Given the description of an element on the screen output the (x, y) to click on. 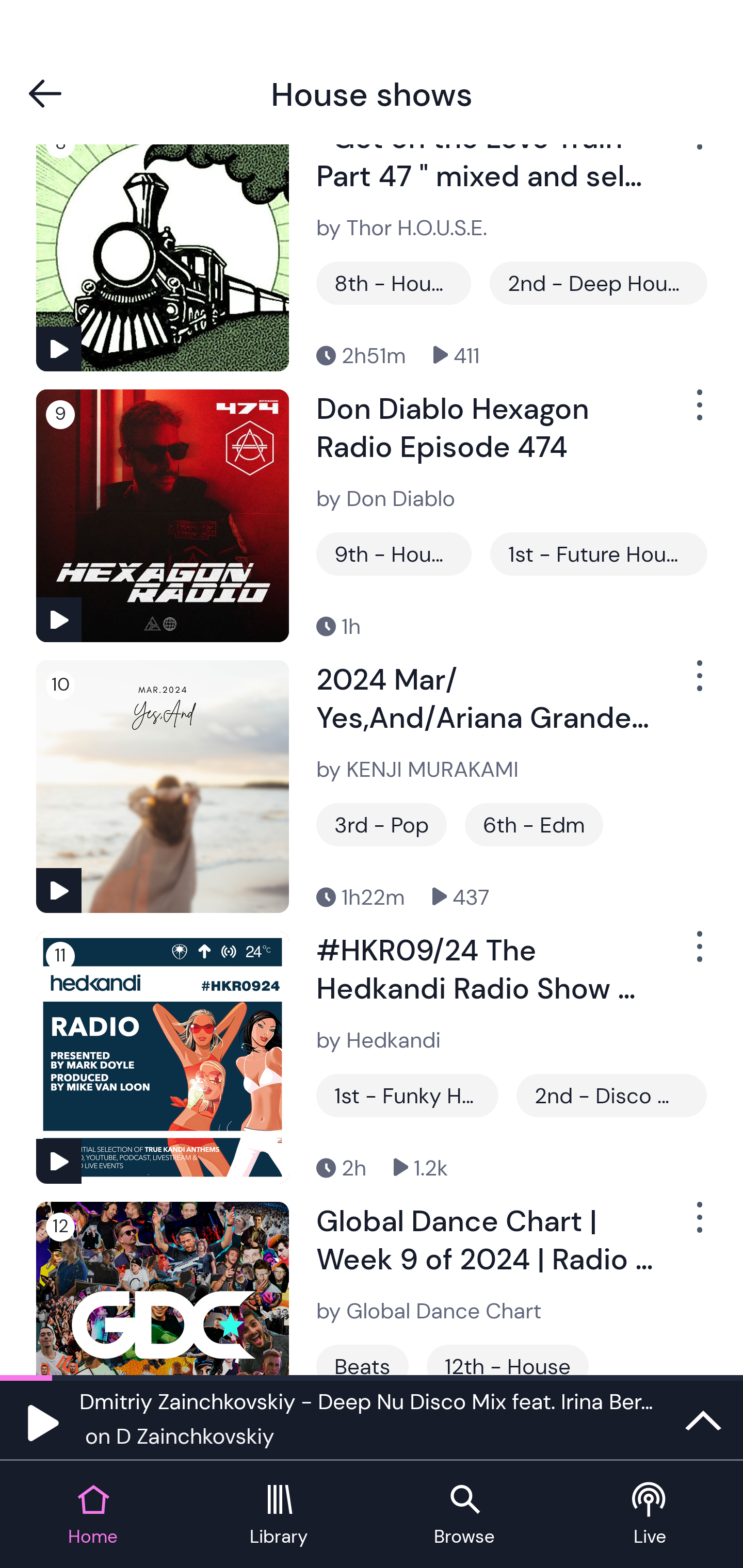
8th - House (393, 282)
2nd - Deep House (597, 282)
Show Options Menu Button (697, 411)
9th - House (393, 553)
1st - Future House (598, 553)
Show Options Menu Button (697, 683)
3rd - Pop (381, 824)
6th - Edm (534, 824)
Show Options Menu Button (697, 954)
1st - Funky House (407, 1095)
2nd - Disco House (611, 1095)
Show Options Menu Button (697, 1224)
Beats (362, 1360)
12th - House (507, 1360)
Home tab Home (92, 1515)
Library tab Library (278, 1515)
Browse tab Browse (464, 1515)
Live tab Live (650, 1515)
